Given the description of an element on the screen output the (x, y) to click on. 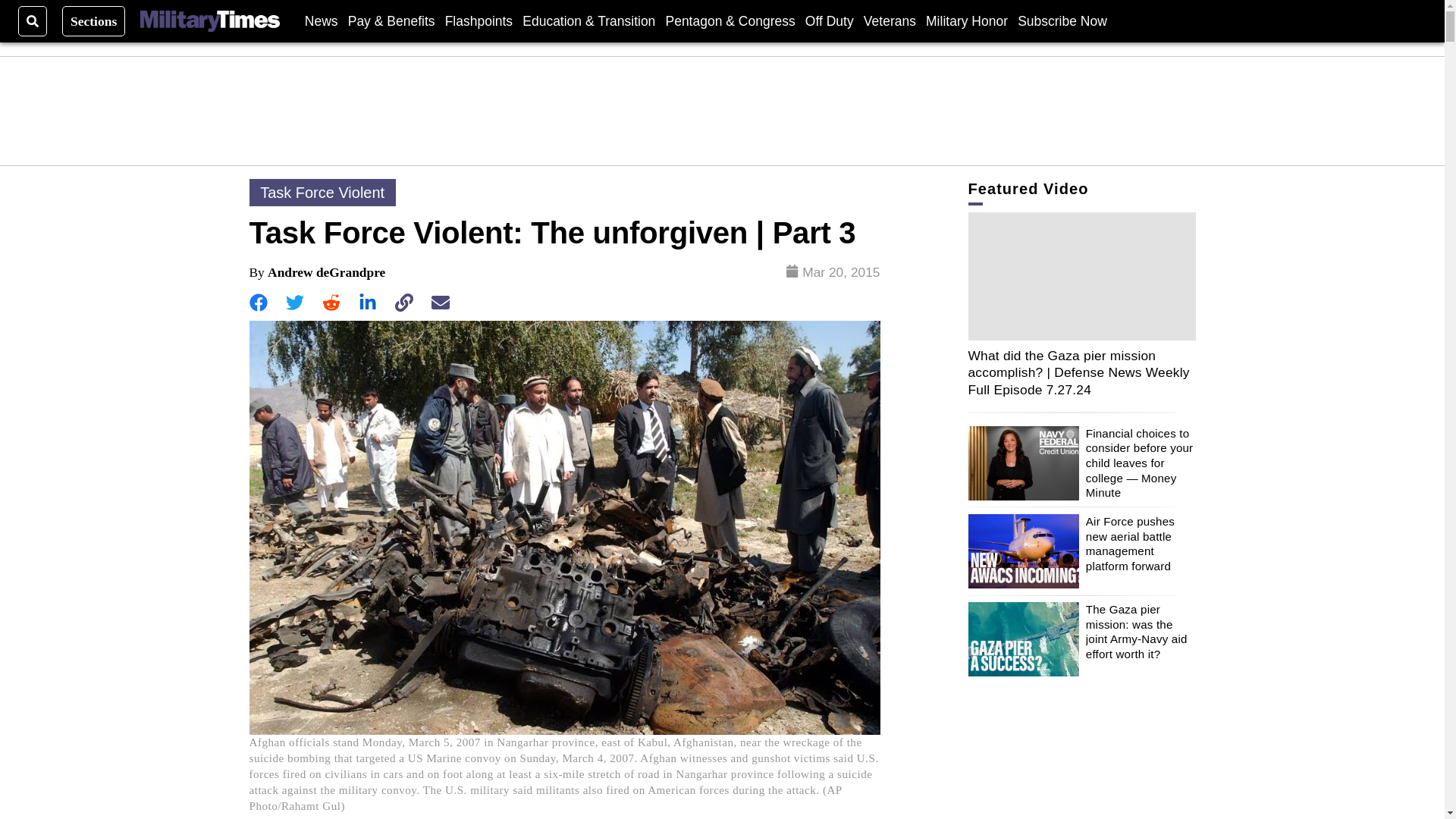
News (320, 20)
Flashpoints (479, 20)
Military Times Logo (209, 20)
Sections (93, 20)
Military Honor (966, 20)
Off Duty (829, 20)
Veterans (889, 20)
